Given the description of an element on the screen output the (x, y) to click on. 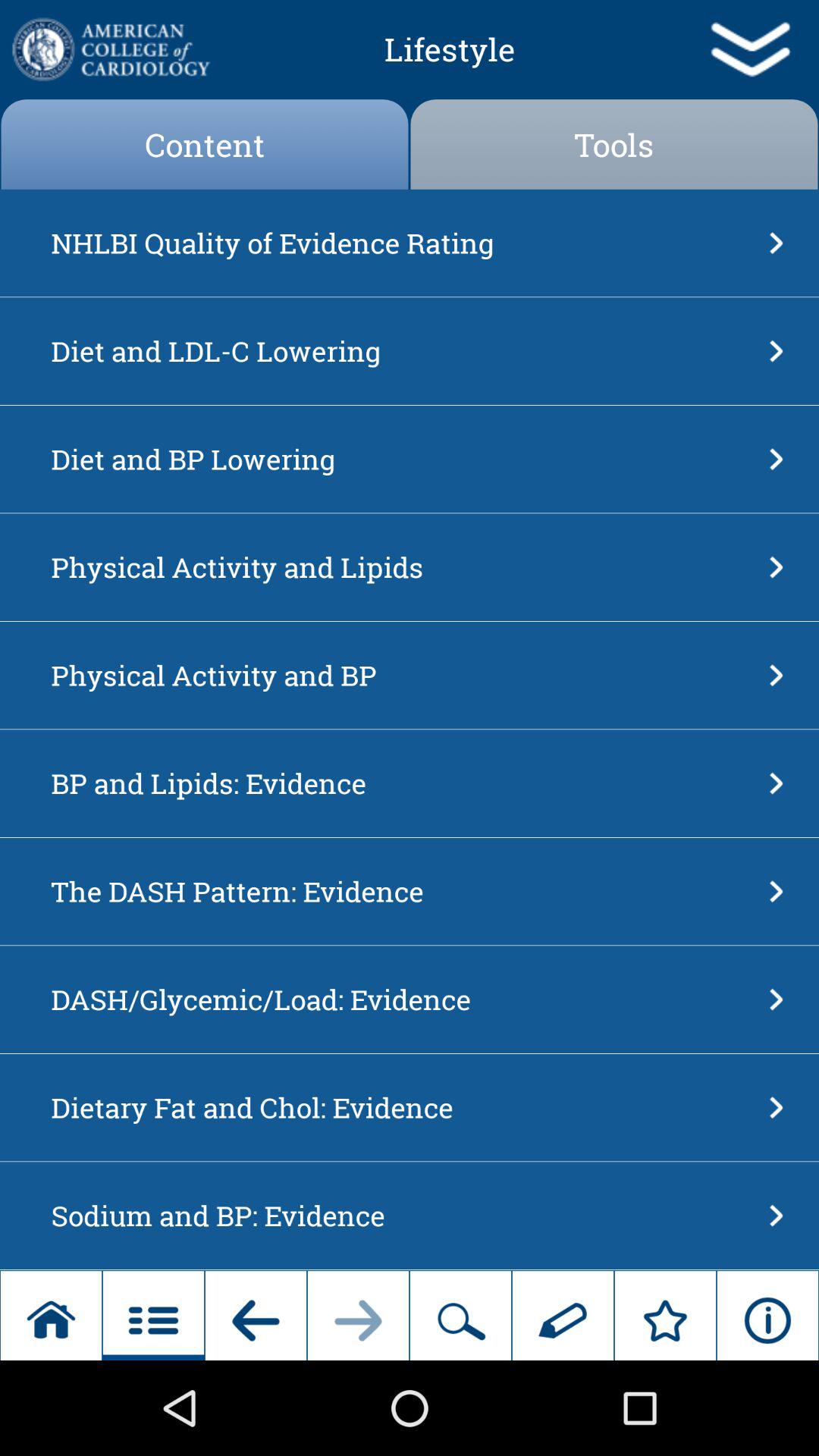
flip to tools button (613, 144)
